Given the description of an element on the screen output the (x, y) to click on. 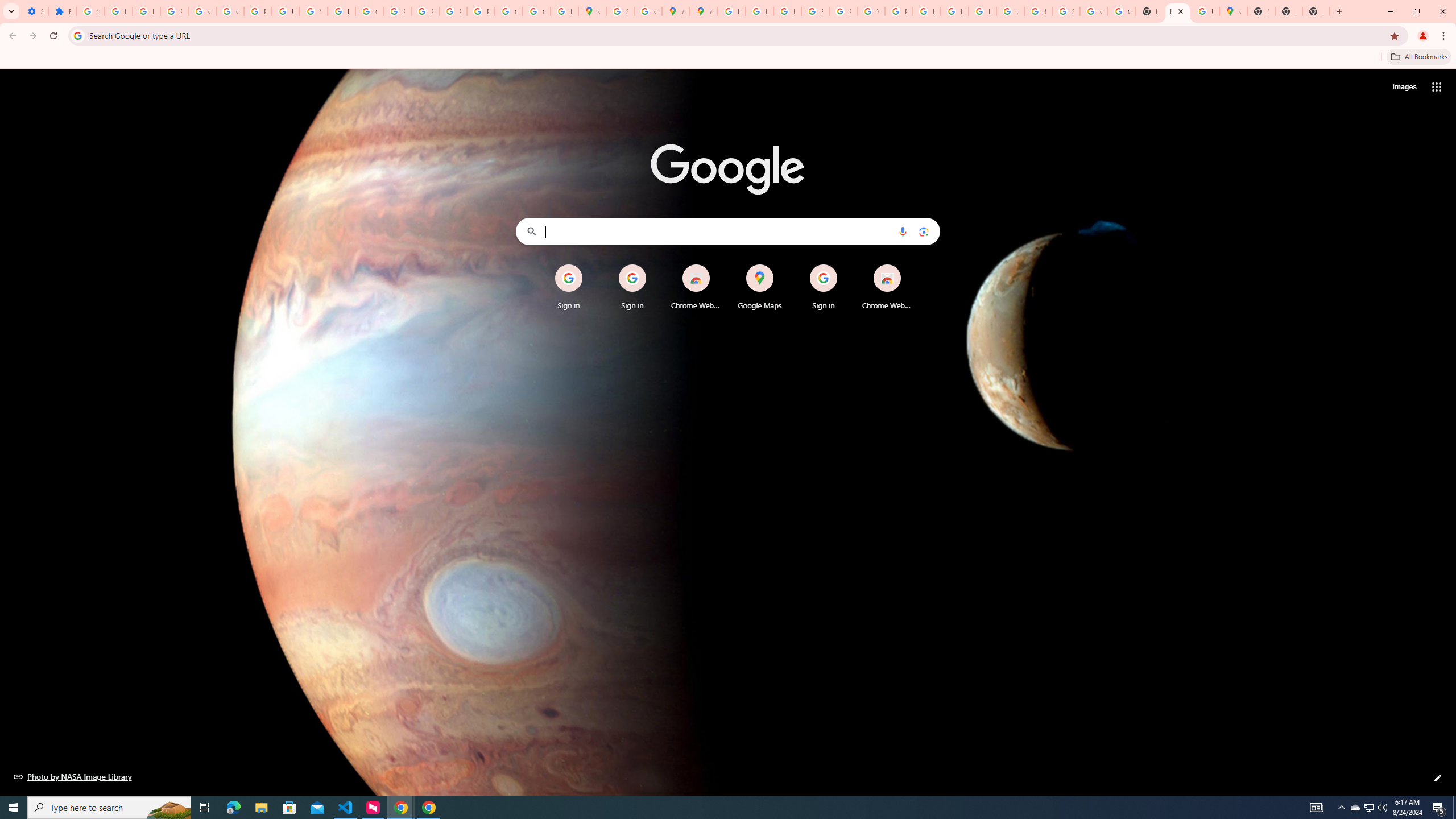
Google Maps (592, 11)
New Tab (1177, 11)
Privacy Help Center - Policies Help (787, 11)
https://scholar.google.com/ (341, 11)
Privacy Help Center - Policies Help (759, 11)
Privacy Help Center - Policies Help (397, 11)
